Given the description of an element on the screen output the (x, y) to click on. 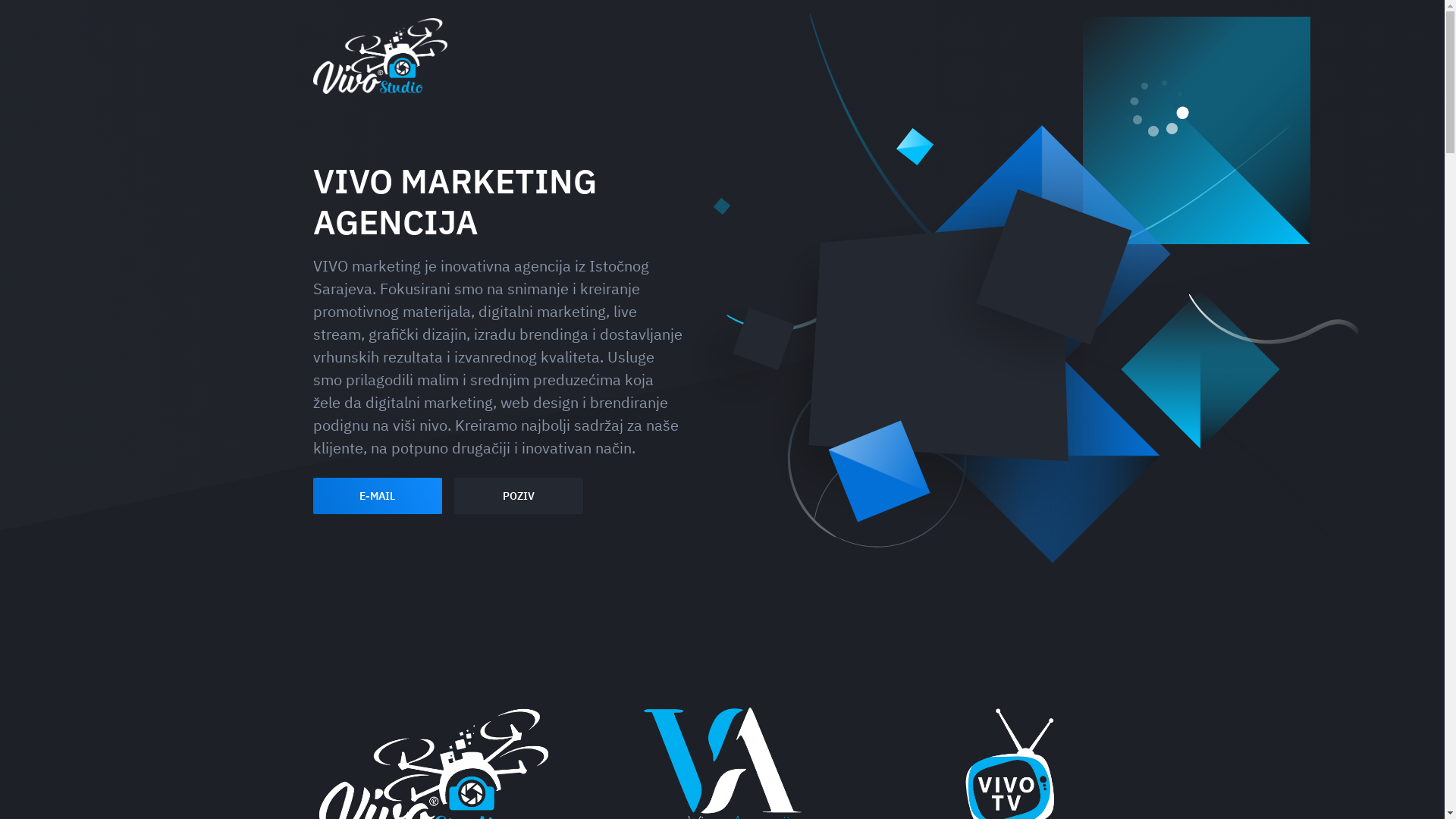
POZIV Element type: text (517, 495)
E-MAIL Element type: text (376, 495)
